Given the description of an element on the screen output the (x, y) to click on. 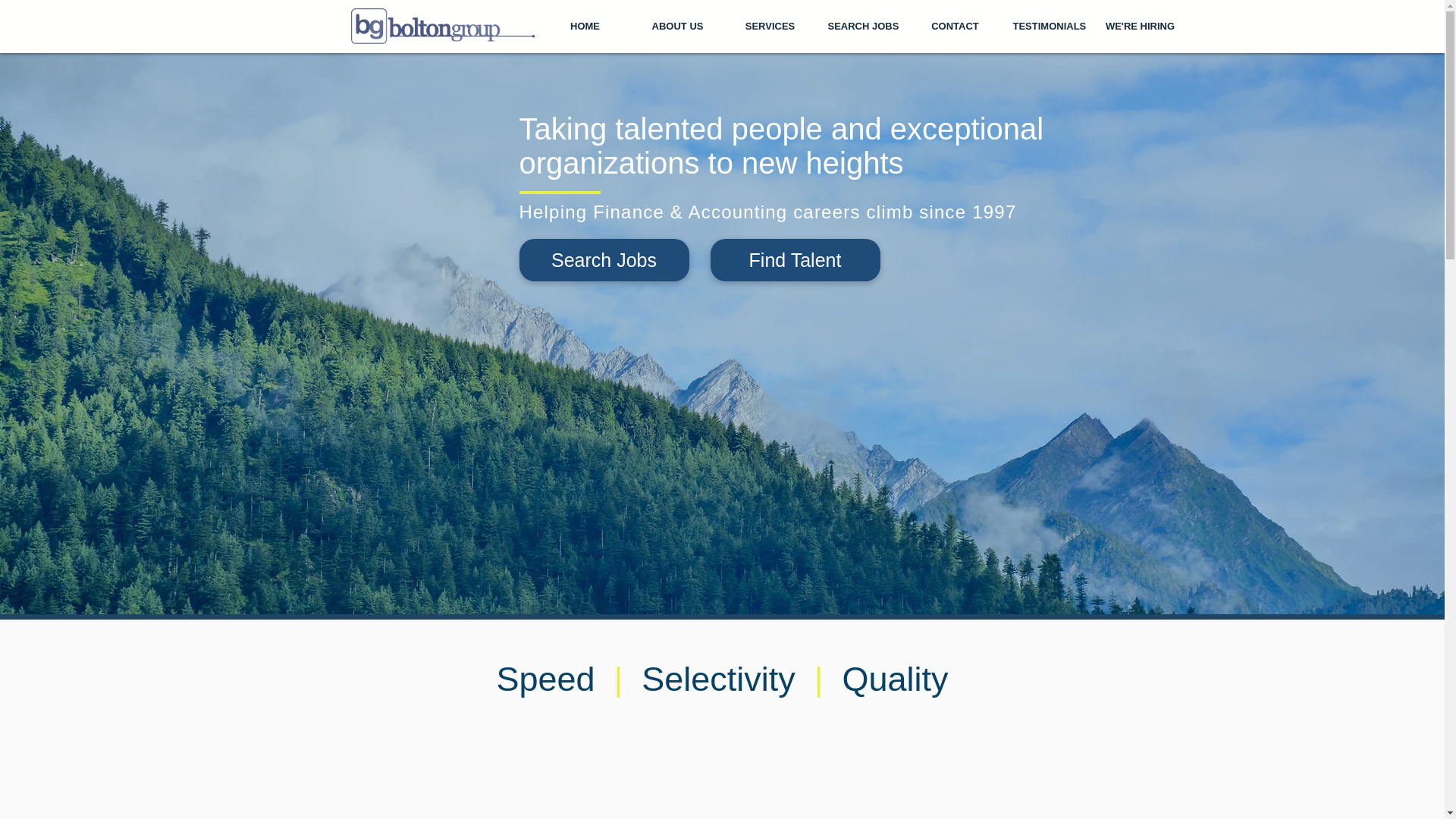
WE'RE HIRING (1139, 26)
HOME (584, 26)
ABOUT US (676, 26)
TESTIMONIALS (1047, 26)
Search Jobs (603, 260)
Find Talent (794, 260)
SERVICES (769, 26)
CONTACT (954, 26)
SEARCH JOBS (861, 26)
